Given the description of an element on the screen output the (x, y) to click on. 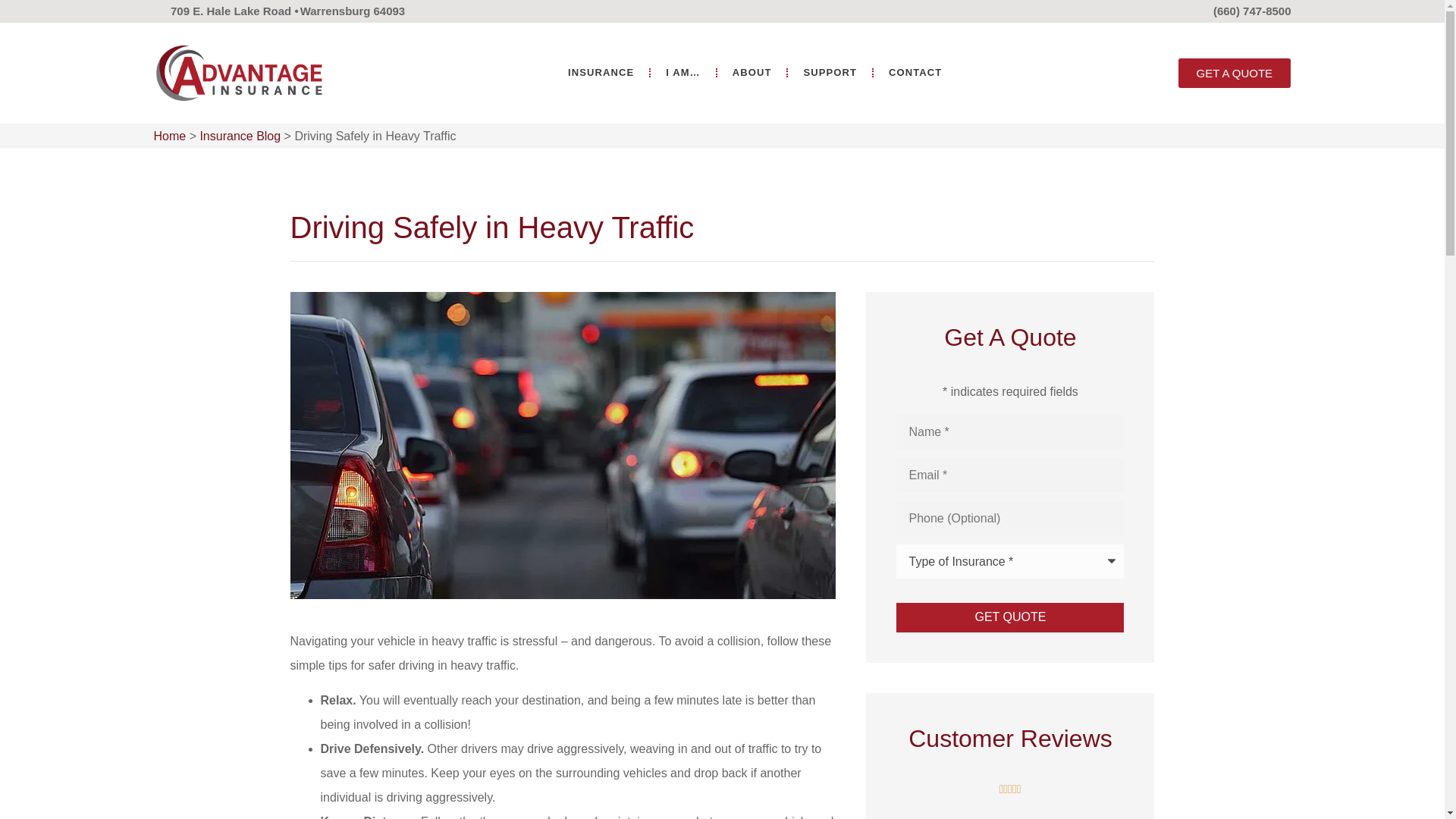
Get Quote (1010, 616)
INSURANCE (601, 72)
Warrensburg (335, 11)
64093 (388, 11)
